Given the description of an element on the screen output the (x, y) to click on. 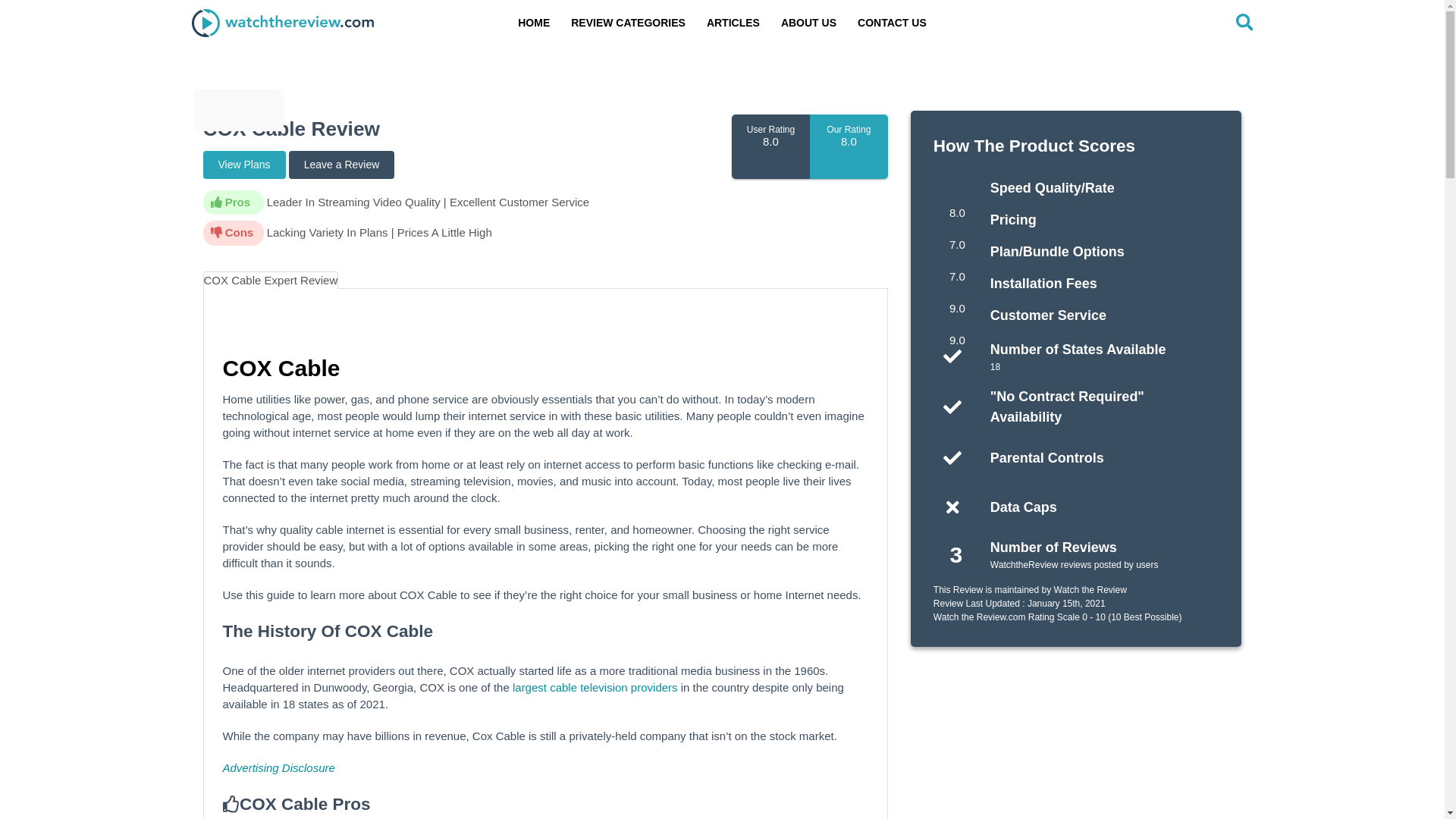
COX Cable Expert Review (271, 280)
View Plans (244, 164)
largest cable television providers (595, 686)
HOME (533, 23)
ABOUT US (808, 23)
REVIEW CATEGORIES (627, 23)
CONTACT US (892, 23)
Advertising Disclosure (278, 767)
Leave a Review (341, 164)
ARTICLES (732, 23)
